Given the description of an element on the screen output the (x, y) to click on. 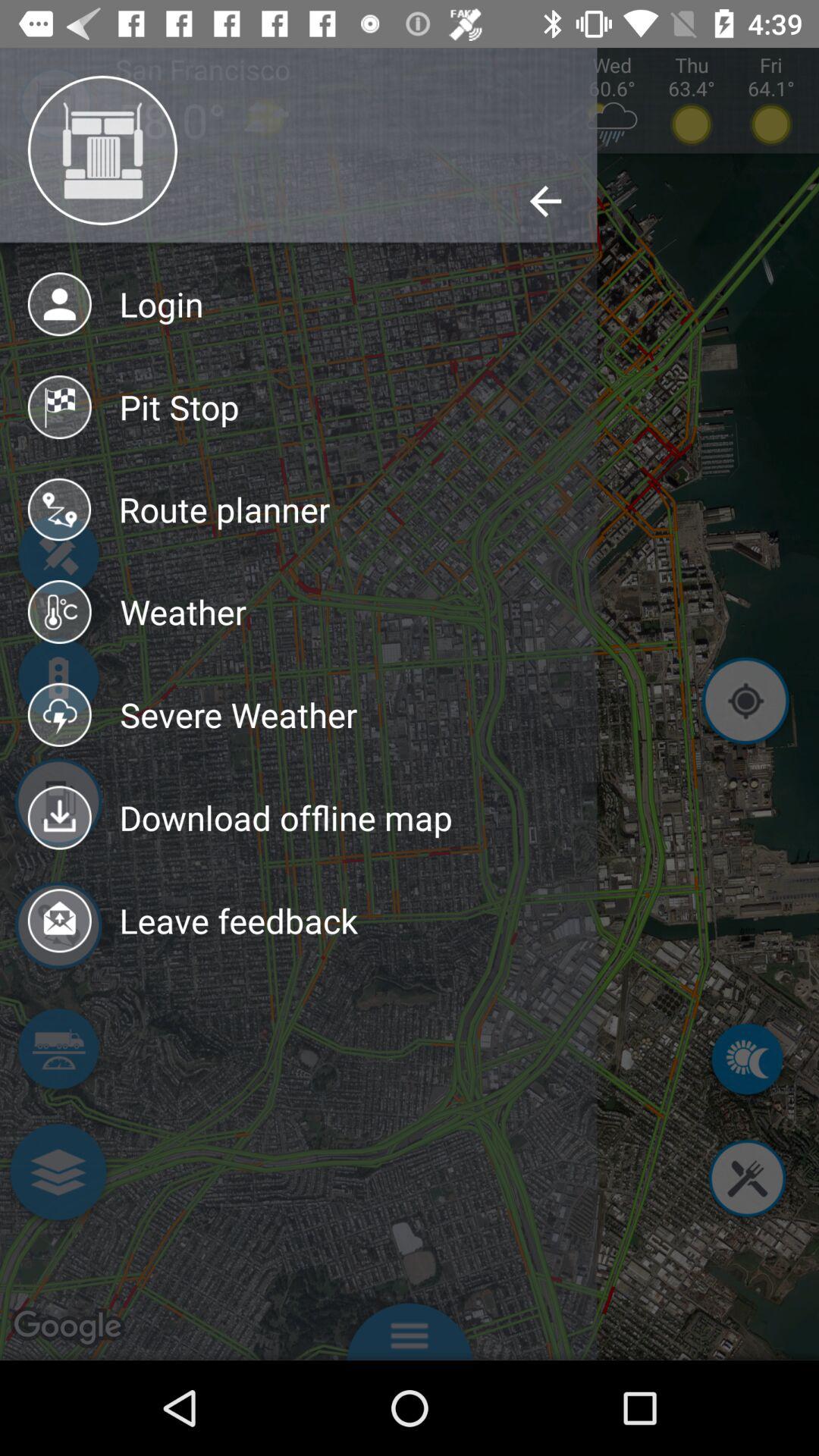
select the back arrow (545, 201)
click on icon left to weather (59, 611)
click on  the menu button at bottom (409, 1326)
go to icon left side of severe weather (59, 714)
